Given the description of an element on the screen output the (x, y) to click on. 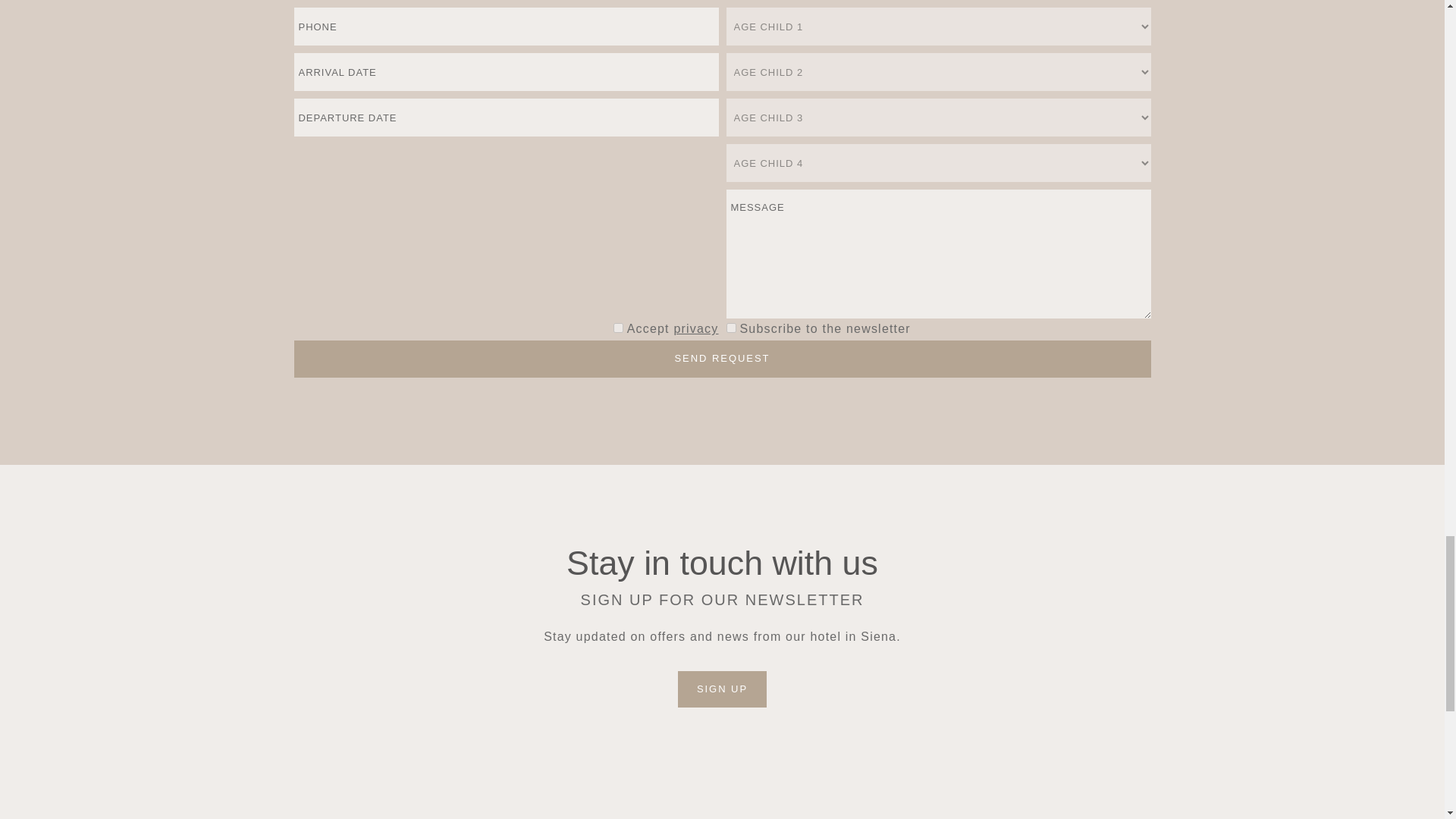
Send request (722, 358)
1 (617, 327)
Subscribe to the newsletter (731, 327)
